Given the description of an element on the screen output the (x, y) to click on. 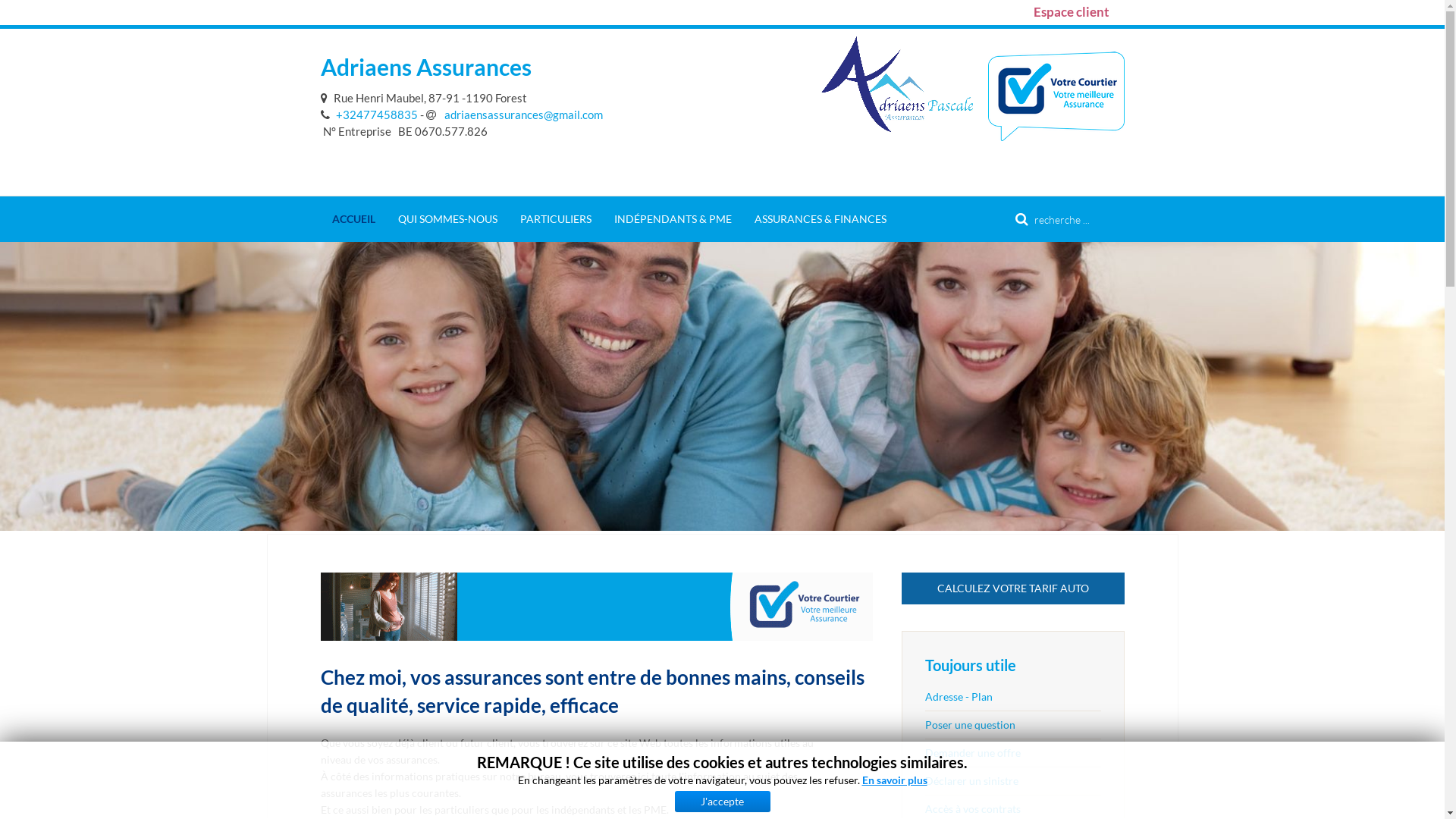
ACCUEIL Element type: text (352, 218)
QUI SOMMES-NOUS Element type: text (447, 218)
   Element type: text (326, 97)
Espace client Element type: text (1070, 11)
  +32477458835 Element type: text (368, 114)
Adriaens Assurances Element type: text (425, 66)
Poser une question Element type: text (1013, 724)
Adresse - Plan Element type: text (1013, 696)
PARTICULIERS Element type: text (555, 218)
CALCULEZ VOTRE TARIF AUTO Element type: text (1012, 587)
Demander une offre Element type: text (1013, 752)
ASSURANCES & FINANCES Element type: text (820, 218)
   adriaensassurances@gmail.com Element type: text (514, 114)
